Given the description of an element on the screen output the (x, y) to click on. 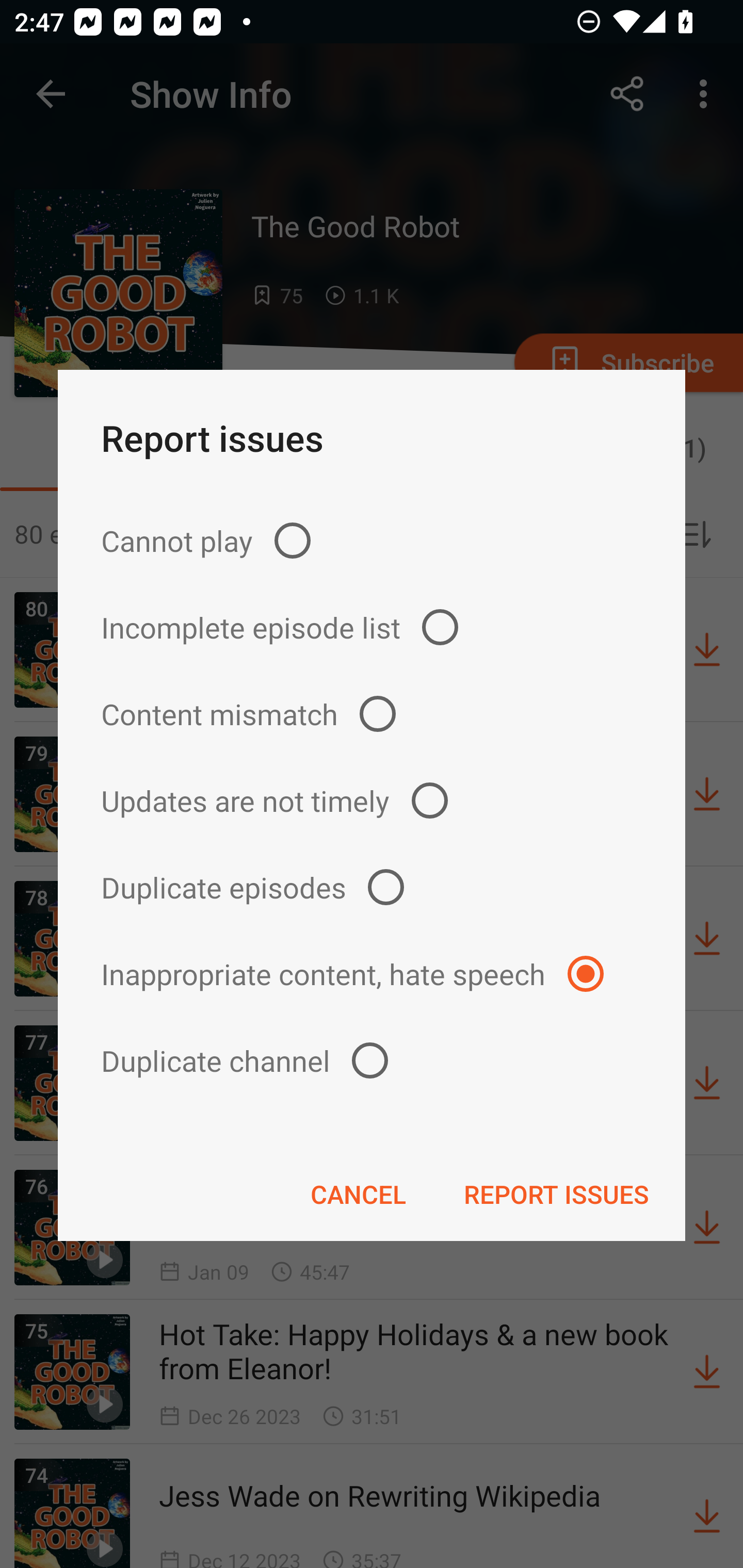
Cannot play (371, 540)
Incomplete episode list (371, 627)
Content mismatch (371, 714)
Updates are not timely (371, 800)
Duplicate episodes (371, 886)
Inappropriate content, hate speech (371, 973)
Duplicate channel (371, 1060)
CANCEL (357, 1193)
REPORT ISSUES (555, 1193)
